Given the description of an element on the screen output the (x, y) to click on. 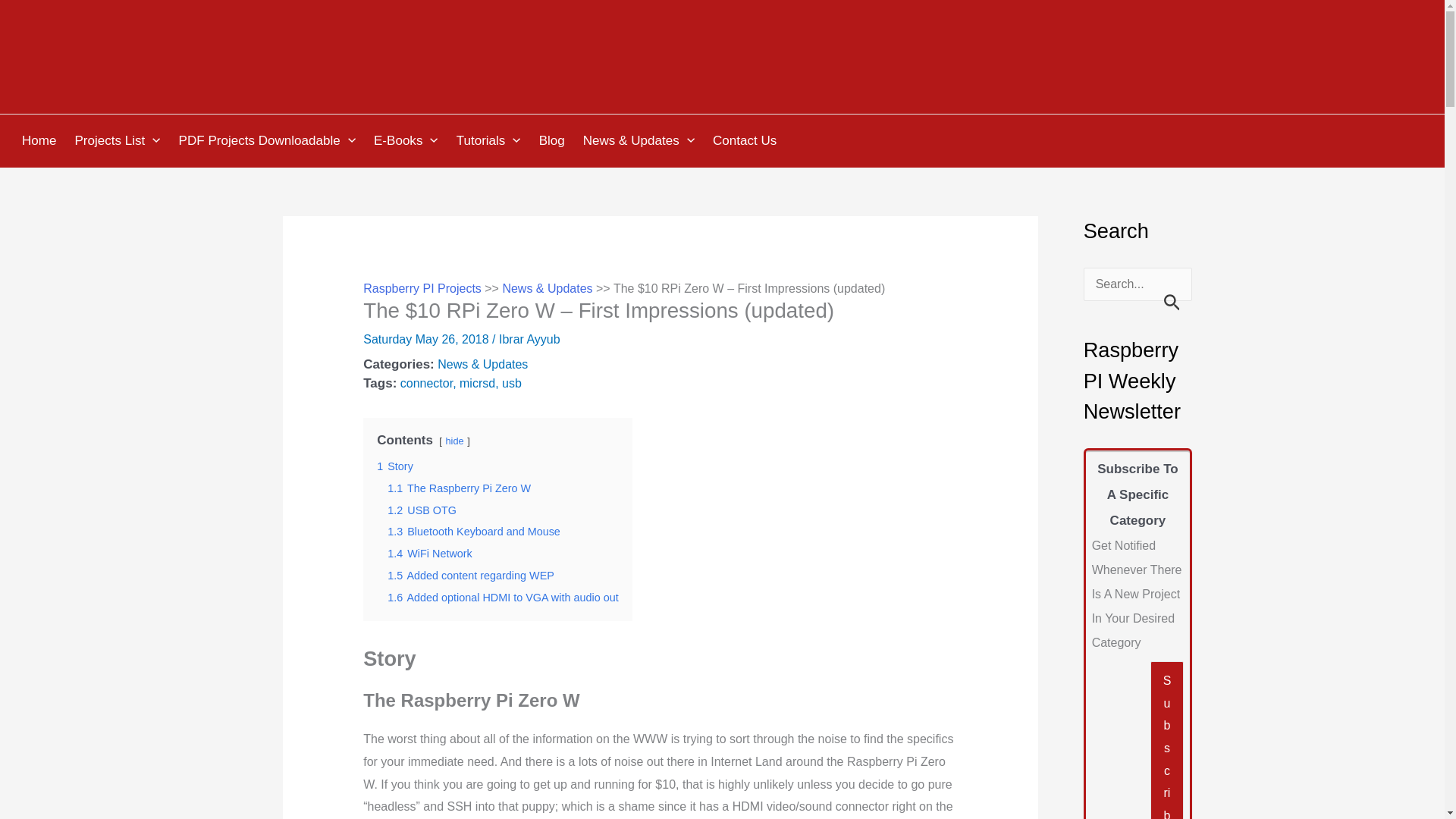
Go to Raspberry PI Projects. (421, 287)
Home (40, 141)
Tutorials (490, 141)
Raspberry Pi Tutorials (490, 141)
Contact Us (746, 141)
Projects List (118, 141)
E-Books (407, 141)
Blog (554, 141)
PDF Projects Downloadable (268, 141)
Raspberry Pi Complete Project List in PDF (268, 141)
